Given the description of an element on the screen output the (x, y) to click on. 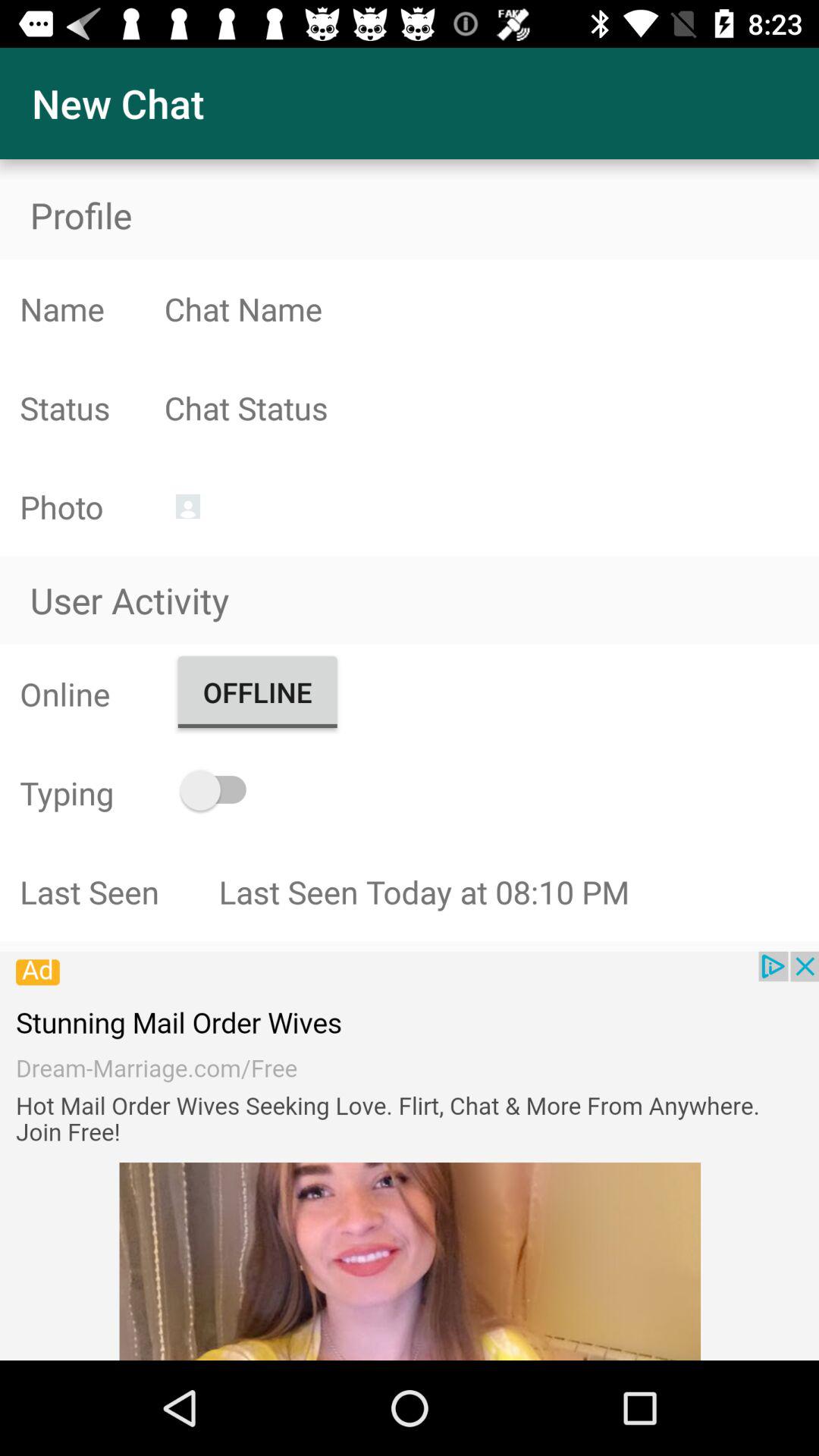
vidoes (409, 1155)
